Given the description of an element on the screen output the (x, y) to click on. 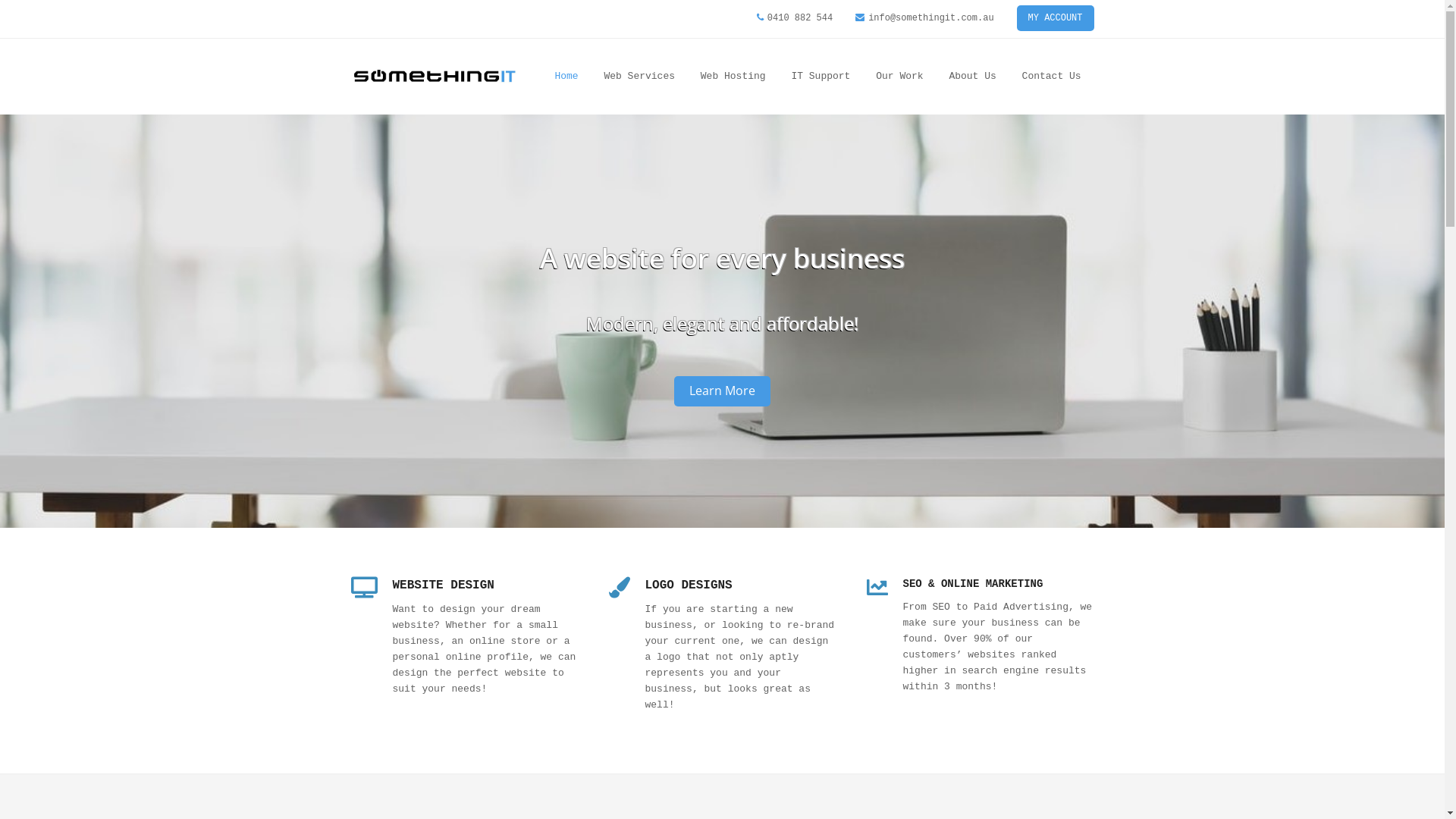
Web Hosting Element type: text (732, 75)
IT Support Element type: text (820, 75)
MY ACCOUNT Element type: text (1055, 18)
Web Services Element type: text (638, 75)
0410 882 544 Element type: text (799, 17)
About Us Element type: text (971, 75)
Learn More Element type: text (721, 390)
Contact Us Element type: text (1051, 75)
Our Work Element type: text (898, 75)
Home Element type: text (565, 75)
info@somethingit.com.au Element type: text (930, 17)
